Given the description of an element on the screen output the (x, y) to click on. 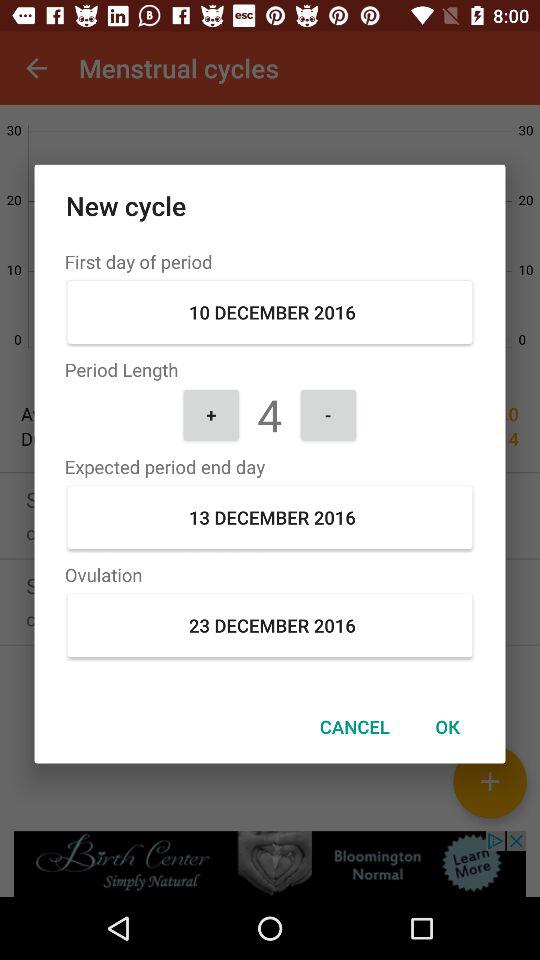
jump to the cancel item (354, 726)
